Given the description of an element on the screen output the (x, y) to click on. 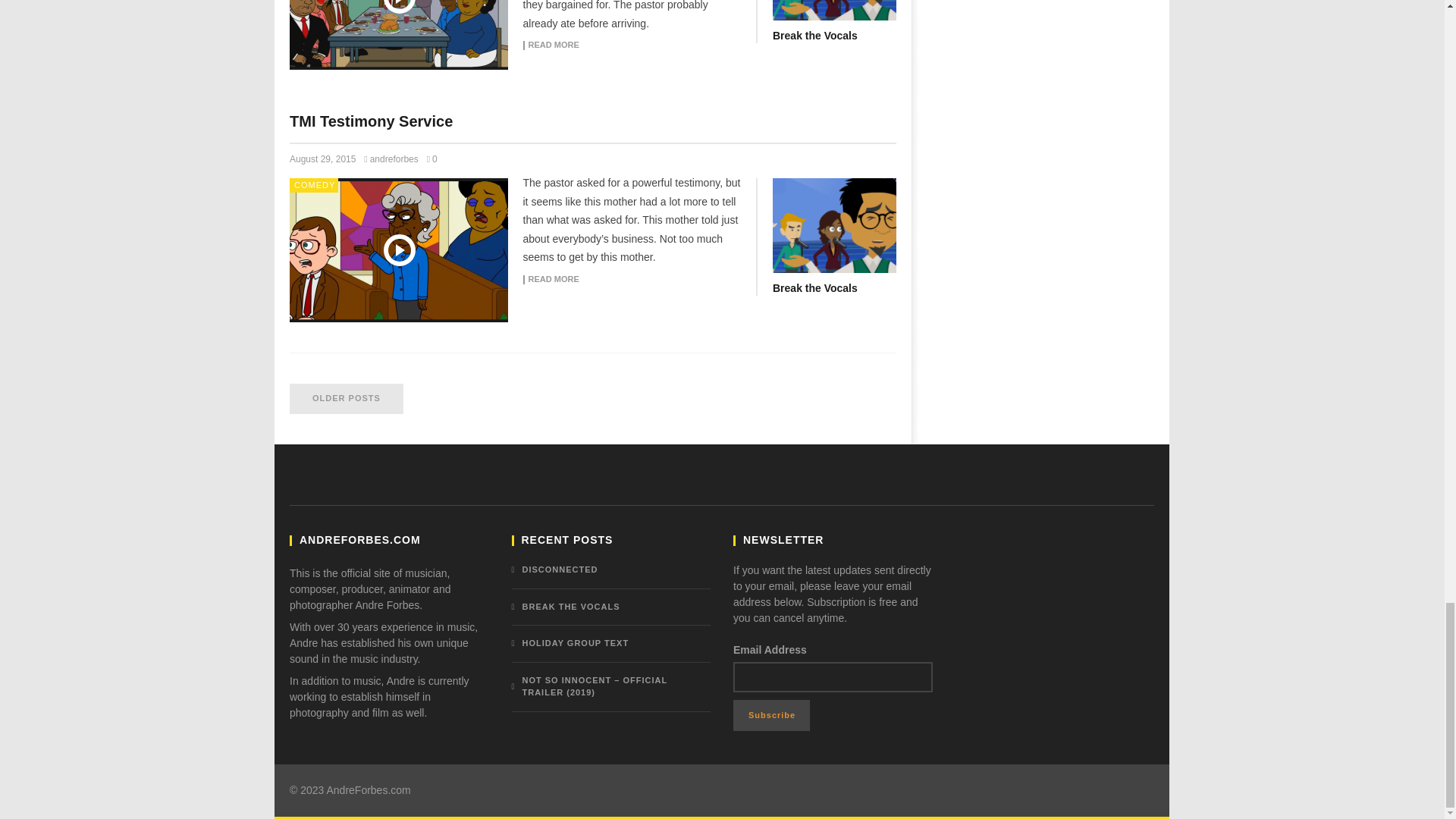
Subscribe (771, 715)
